Given the description of an element on the screen output the (x, y) to click on. 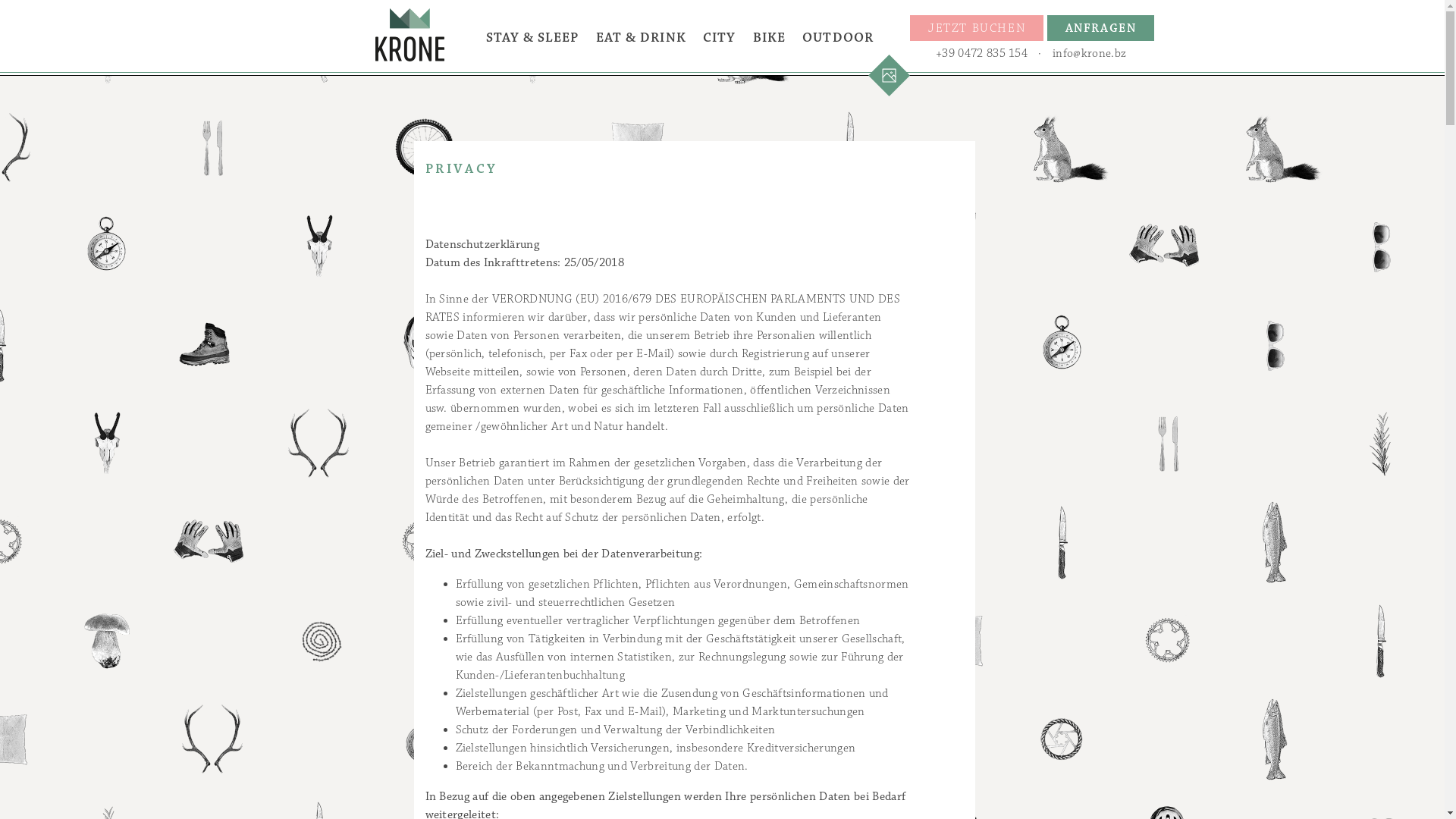
EAT & DRINK Element type: text (641, 37)
STAY & SLEEP Element type: text (532, 37)
JETZT BUCHEN Element type: text (976, 27)
BIKE Element type: text (769, 37)
OUTDOOR Element type: text (837, 37)
ANFRAGEN Element type: text (1100, 27)
CITY Element type: text (719, 37)
+39 0472 835 154 Element type: text (981, 53)
info@krone.bz Element type: text (1089, 53)
